Given the description of an element on the screen output the (x, y) to click on. 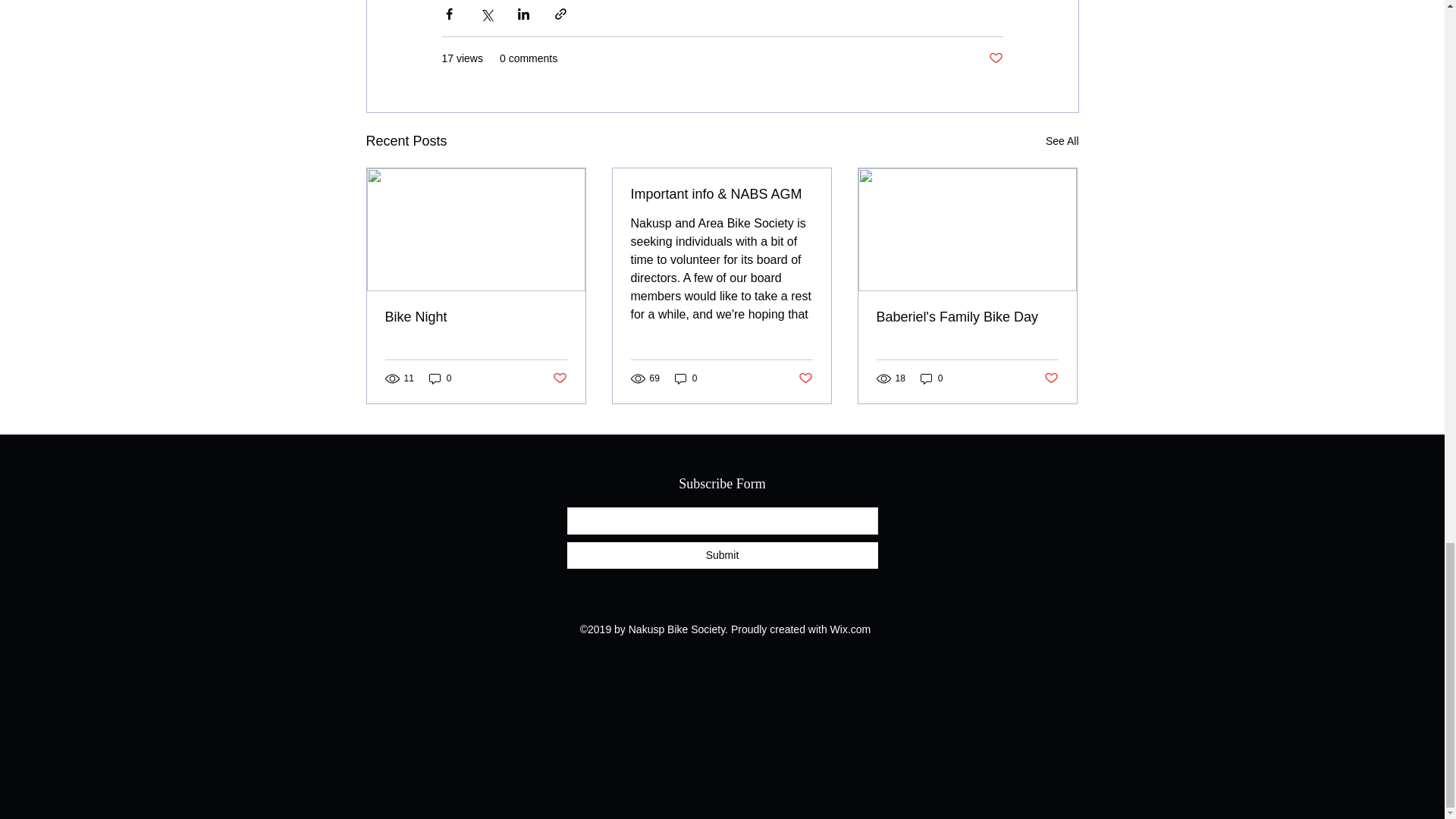
Bike Night (476, 317)
0 (685, 378)
Post not marked as liked (804, 378)
Post not marked as liked (995, 58)
Post not marked as liked (558, 378)
Post not marked as liked (1050, 378)
See All (1061, 141)
0 (931, 378)
Submit (722, 555)
Baberiel's Family Bike Day (967, 317)
0 (440, 378)
